Given the description of an element on the screen output the (x, y) to click on. 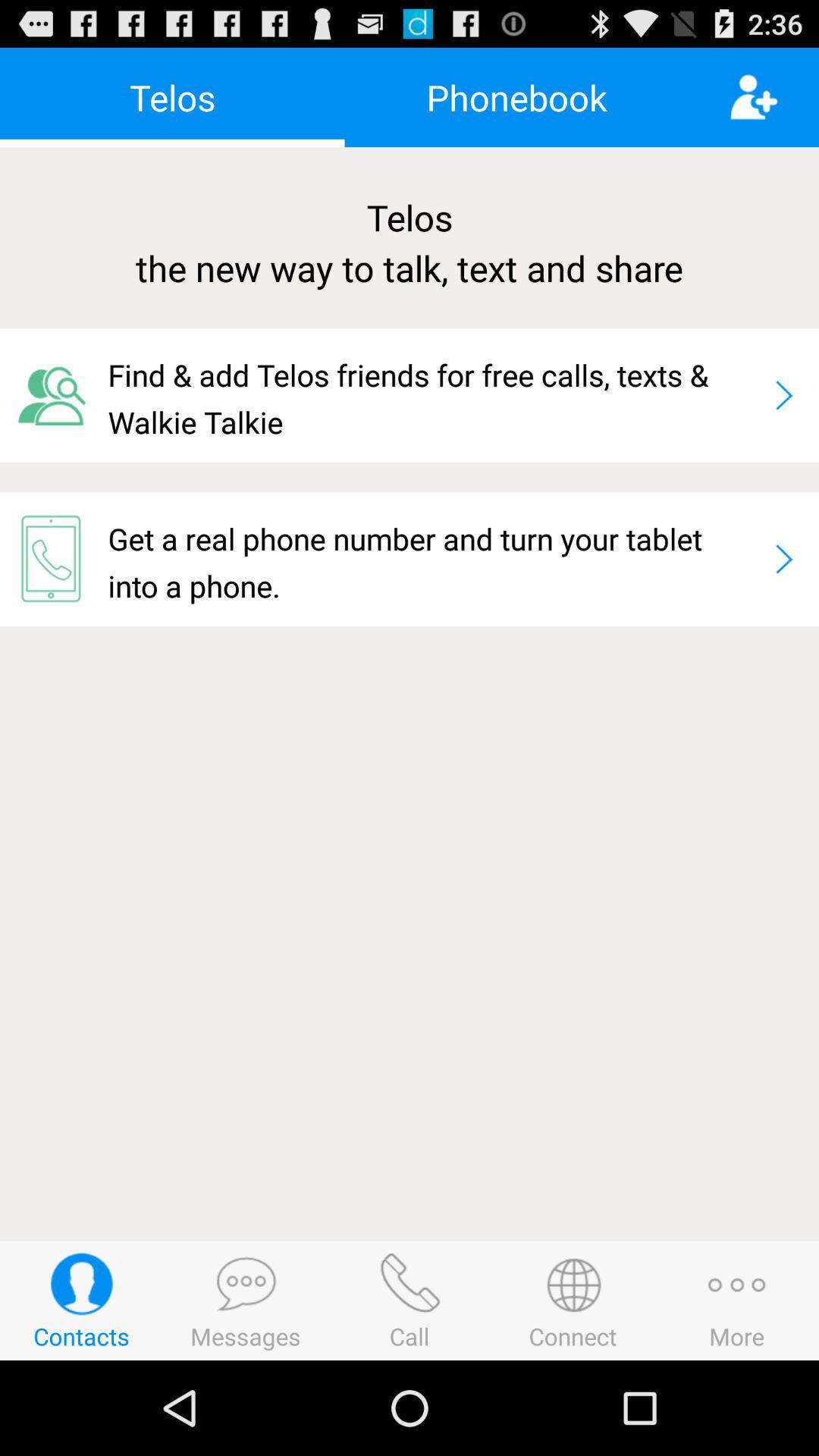
launch app to the right of the phonebook app (774, 97)
